Given the description of an element on the screen output the (x, y) to click on. 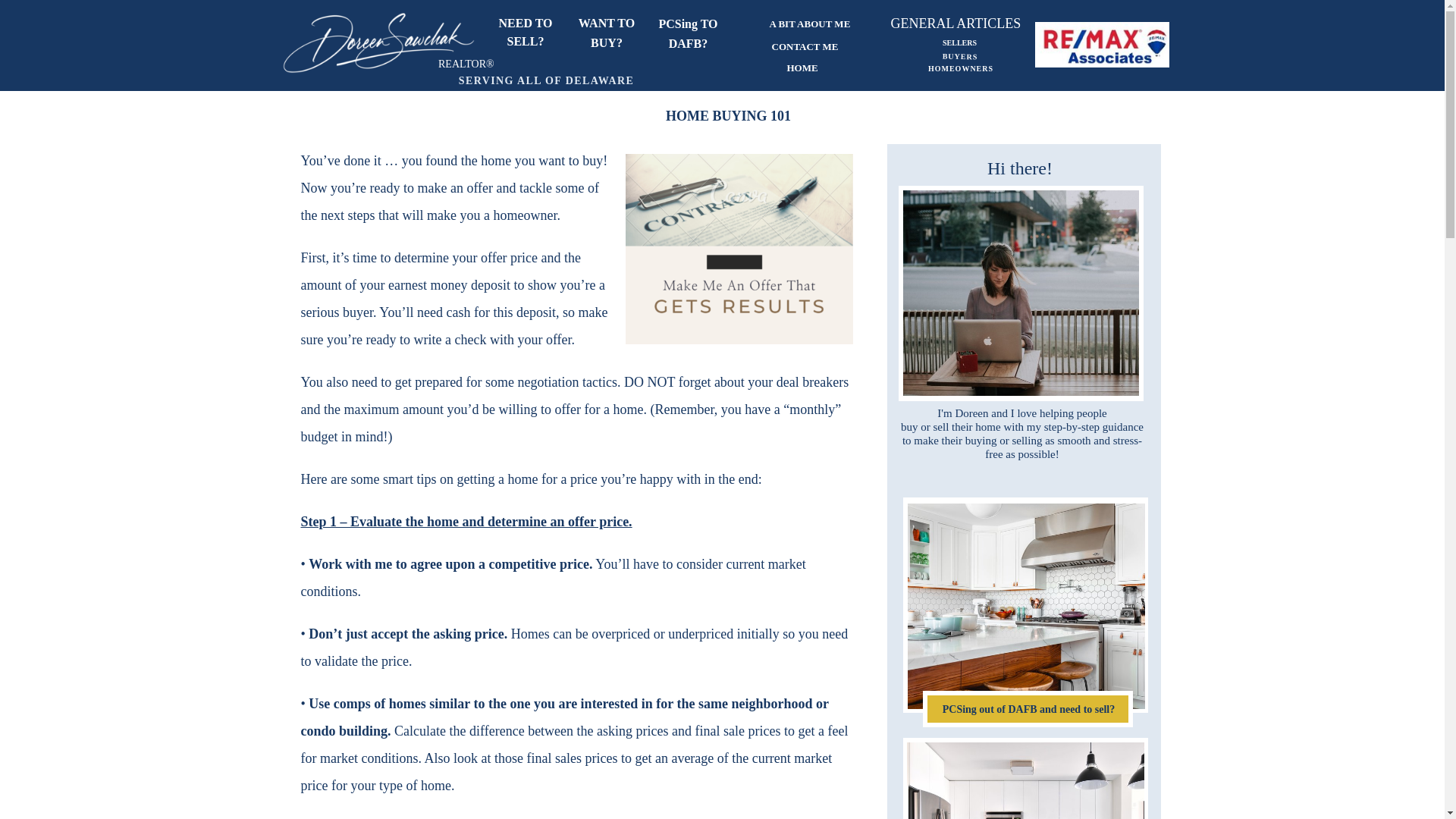
PCSing TO DAFB? (687, 36)
CONTACT ME (807, 45)
NEED TO SELL? (526, 29)
A BIT ABOUT ME (809, 22)
HOME BUYING 101 (727, 115)
BUYERS (958, 57)
HOMEOWNERS (959, 70)
PCSing out of DAFB and need to sell? (1029, 713)
HOME (809, 67)
WANT TO BUY? (606, 29)
SELLERS (959, 43)
